Given the description of an element on the screen output the (x, y) to click on. 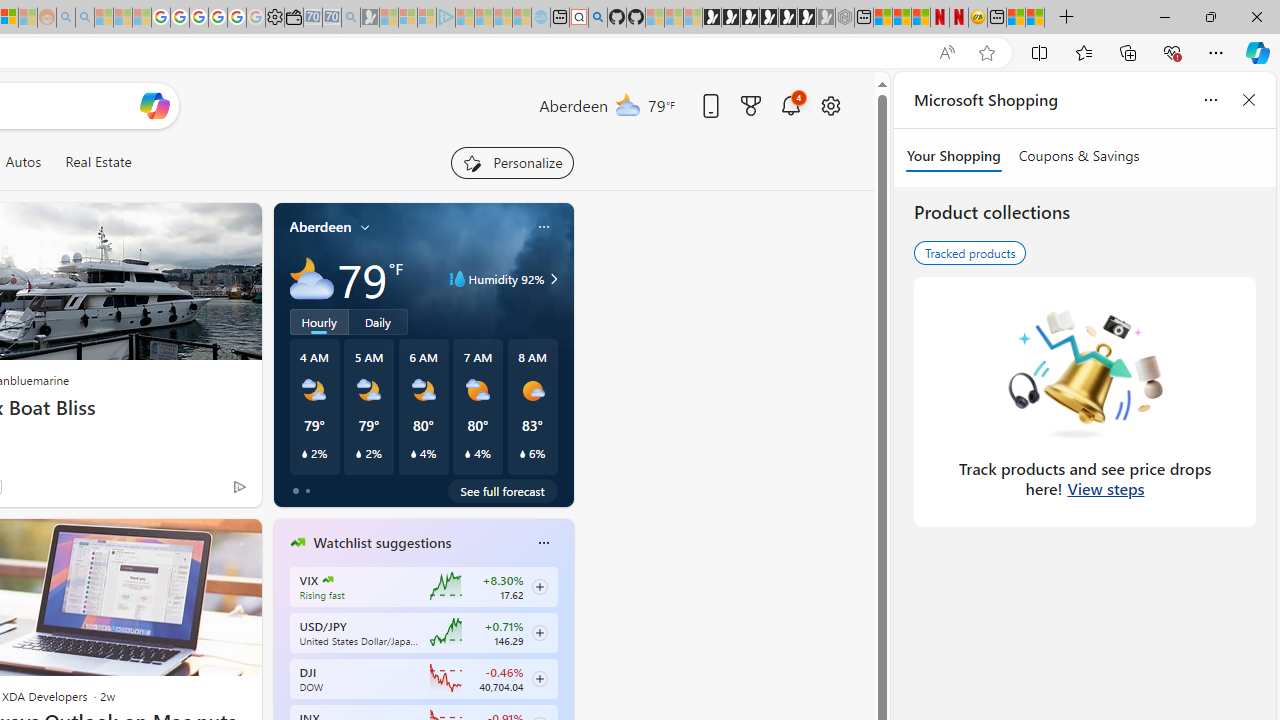
CBOE Market Volatility Index (328, 579)
Ad Choice (238, 485)
github - Search (597, 17)
tab-1 (306, 490)
Wildlife - MSN (1016, 17)
Hide this story (201, 542)
Class: follow-button  m (539, 678)
This story is trending (200, 490)
Wallet (294, 17)
